Given the description of an element on the screen output the (x, y) to click on. 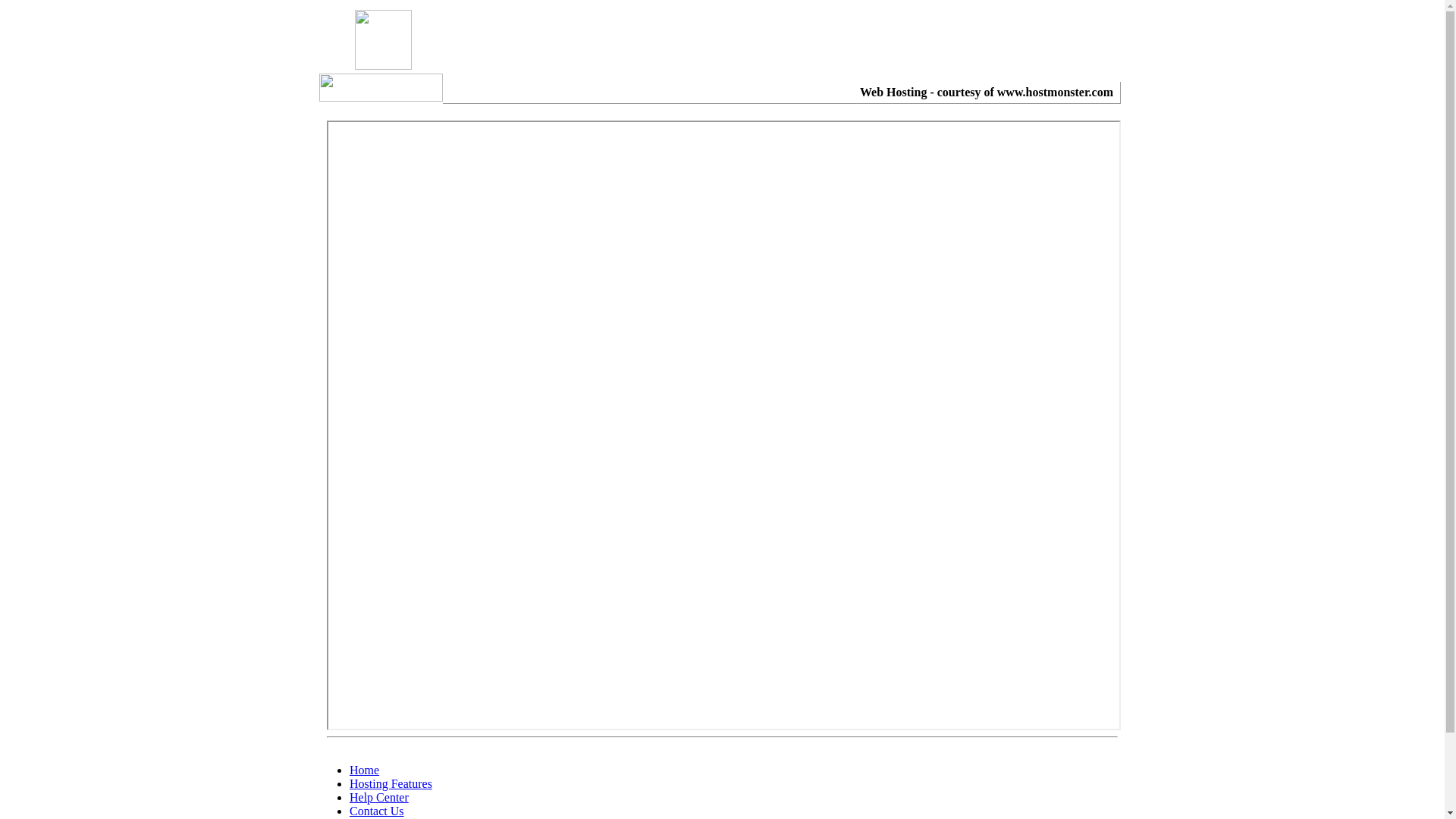
Help Center Element type: text (378, 796)
Hosting Features Element type: text (390, 783)
Home Element type: text (364, 769)
Contact Us Element type: text (376, 810)
Web Hosting - courtesy of www.hostmonster.com Element type: text (986, 91)
